Given the description of an element on the screen output the (x, y) to click on. 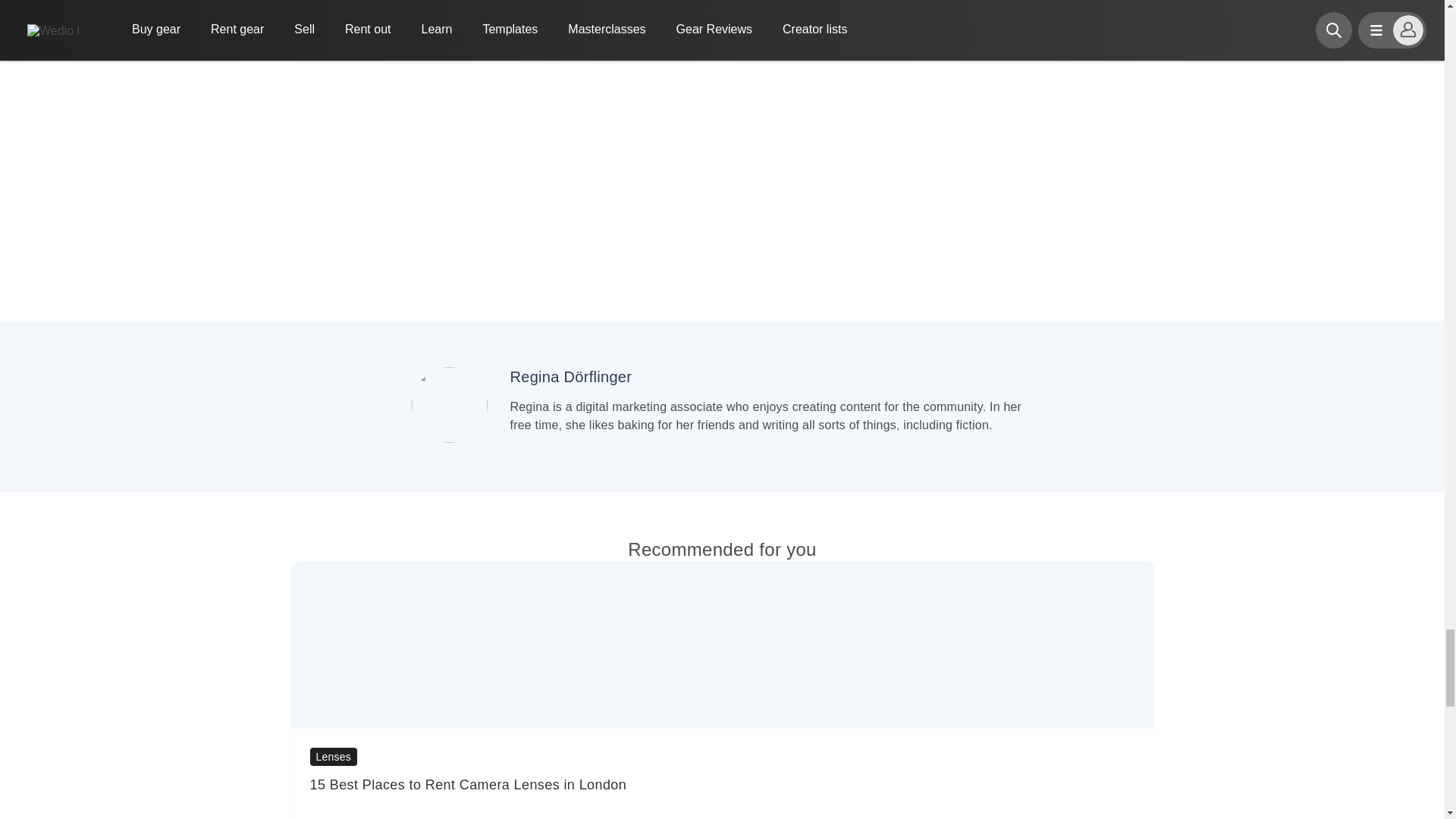
15 Best Places to Rent Camera Lenses in London (721, 784)
